Given the description of an element on the screen output the (x, y) to click on. 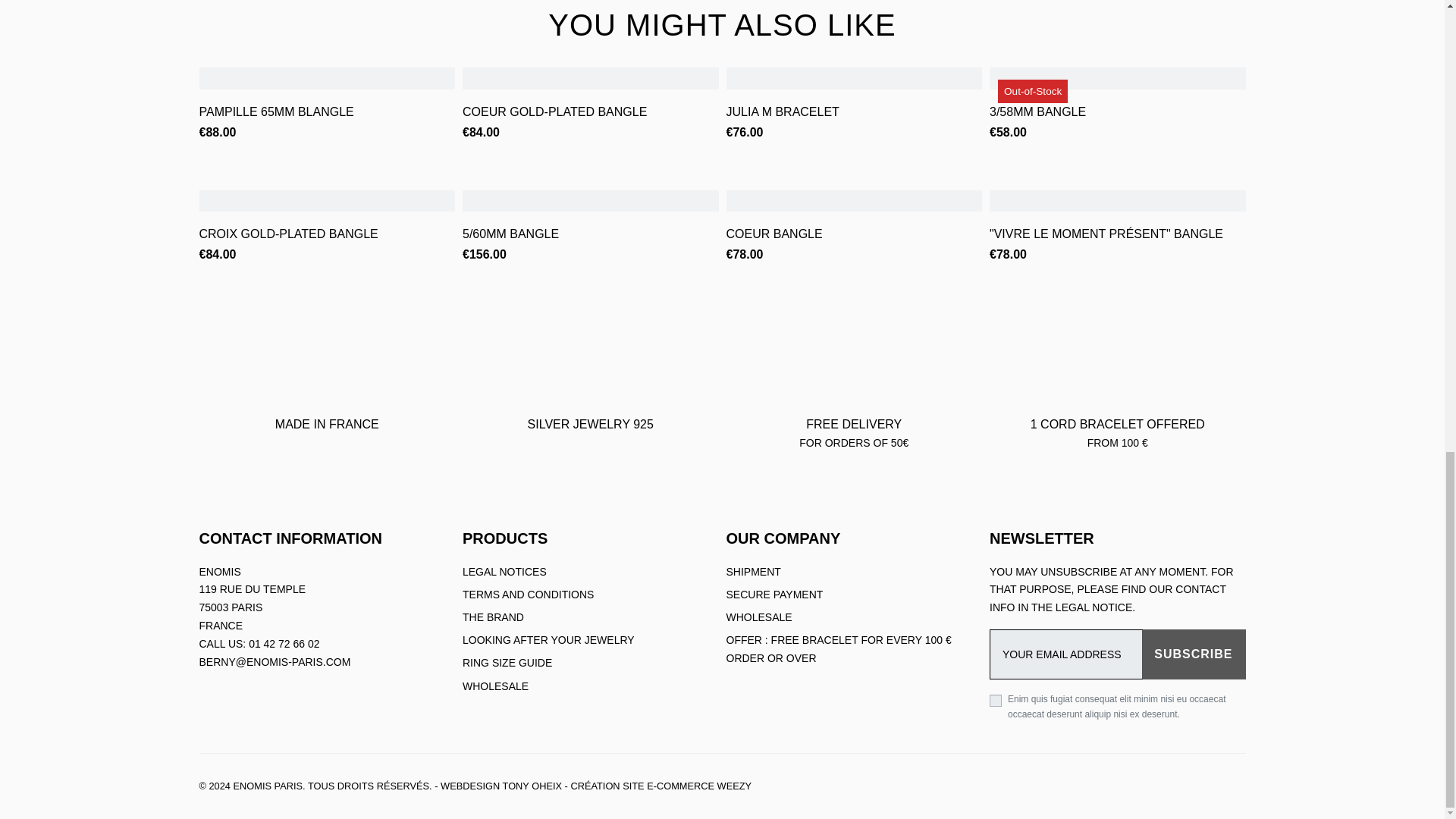
Legal Notices (505, 571)
How best to choose your ring size (507, 662)
Our Shipping terms (753, 571)
